Given the description of an element on the screen output the (x, y) to click on. 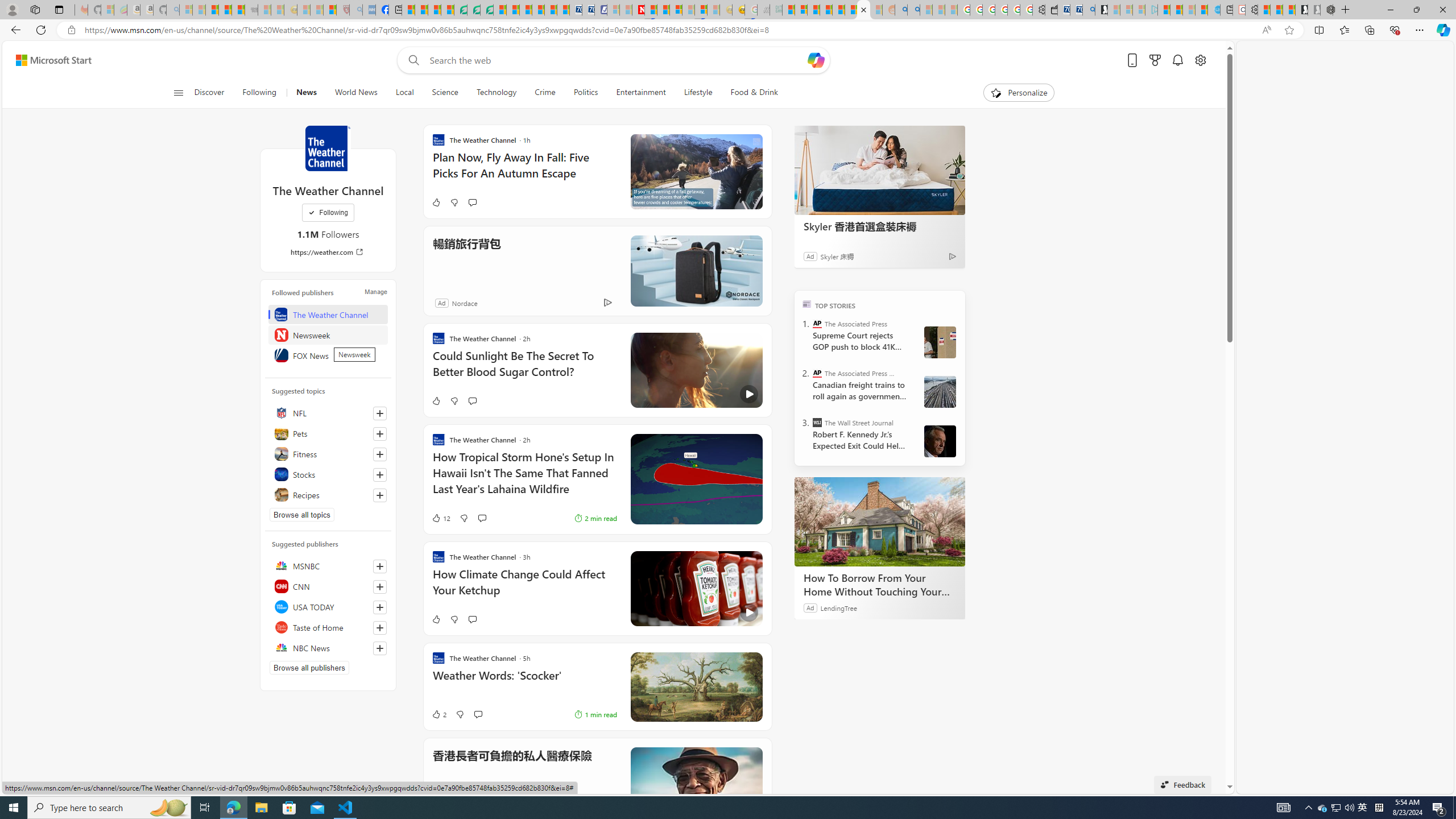
Class: hero-image (696, 588)
